Given the description of an element on the screen output the (x, y) to click on. 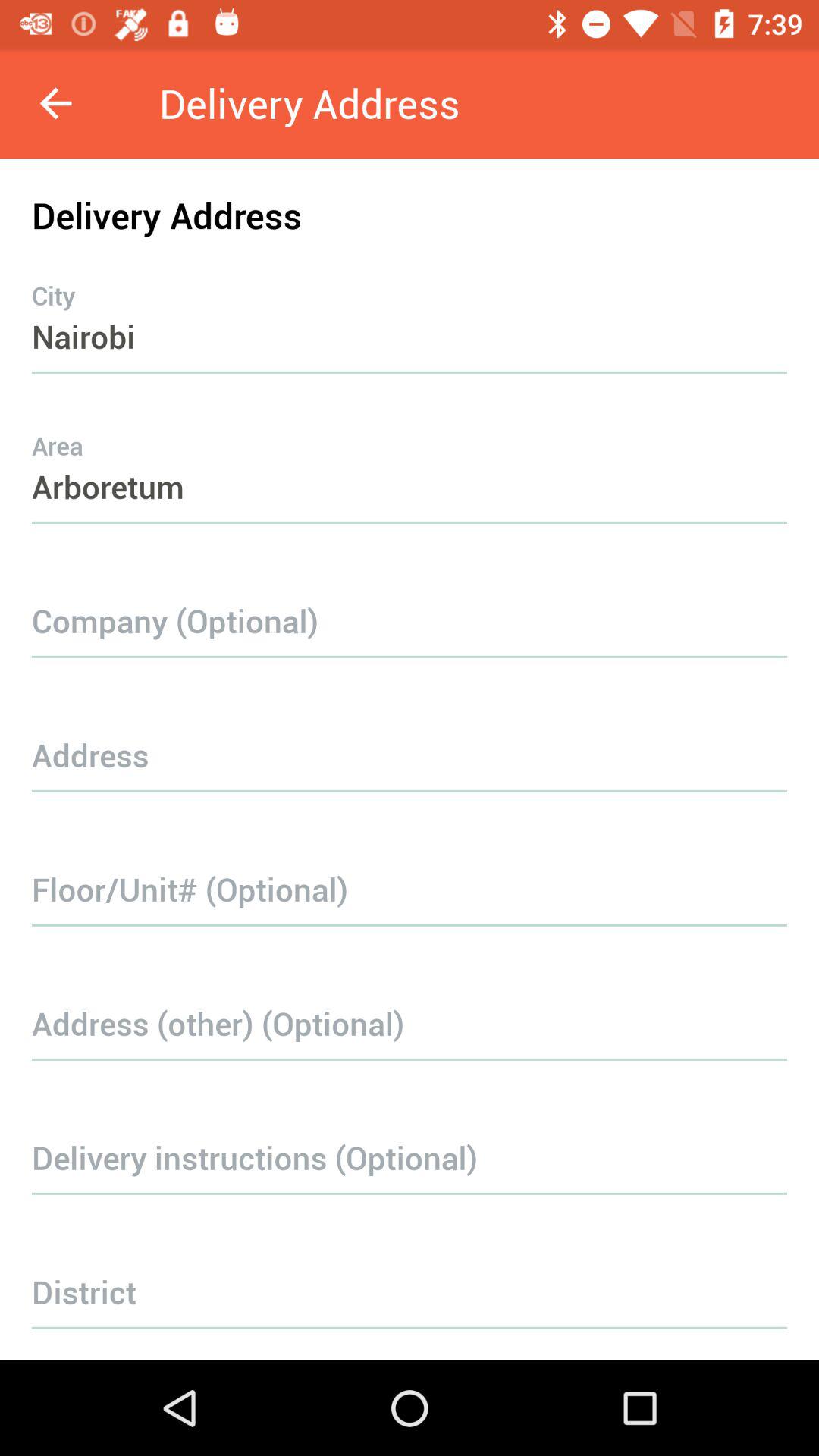
press icon to the left of delivery address (55, 103)
